Given the description of an element on the screen output the (x, y) to click on. 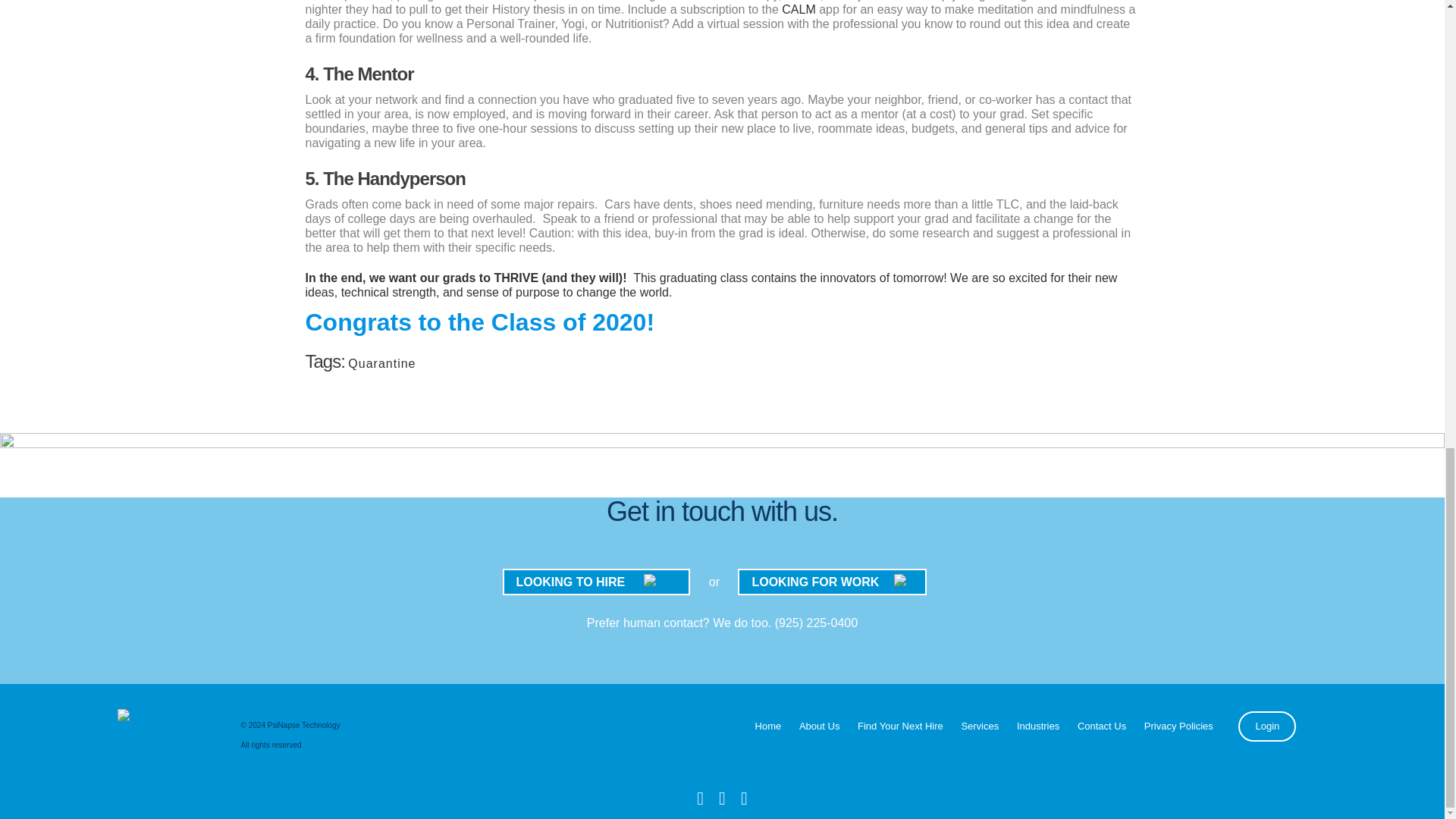
CALM (798, 9)
Quarantine (380, 363)
